Given the description of an element on the screen output the (x, y) to click on. 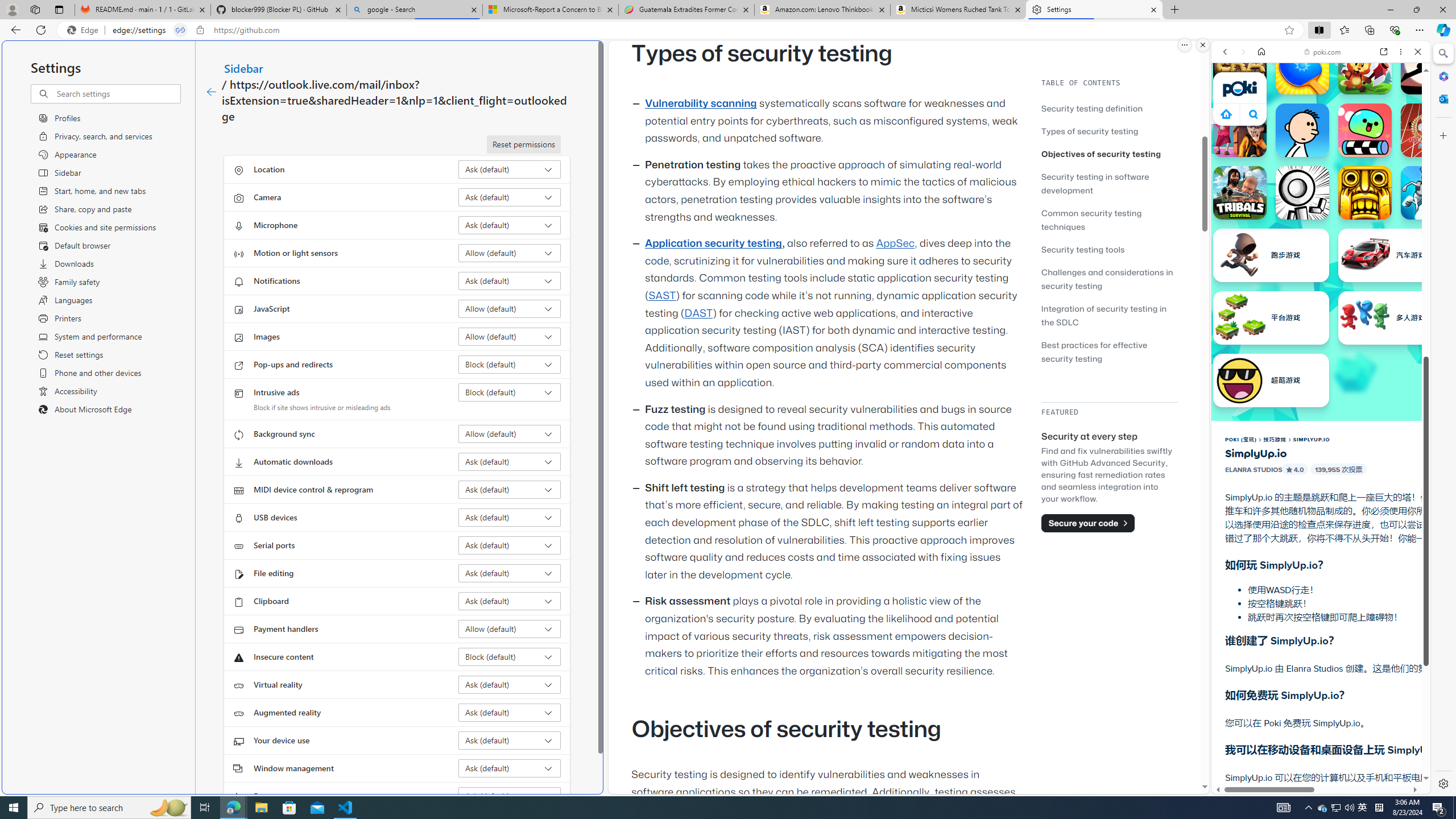
Fonts Ask (default) (509, 796)
Application security testing (713, 243)
Blumgi Slime Blumgi Slime (1364, 130)
School Escape! (1239, 130)
SAST (661, 295)
Car Games (1320, 267)
